Given the description of an element on the screen output the (x, y) to click on. 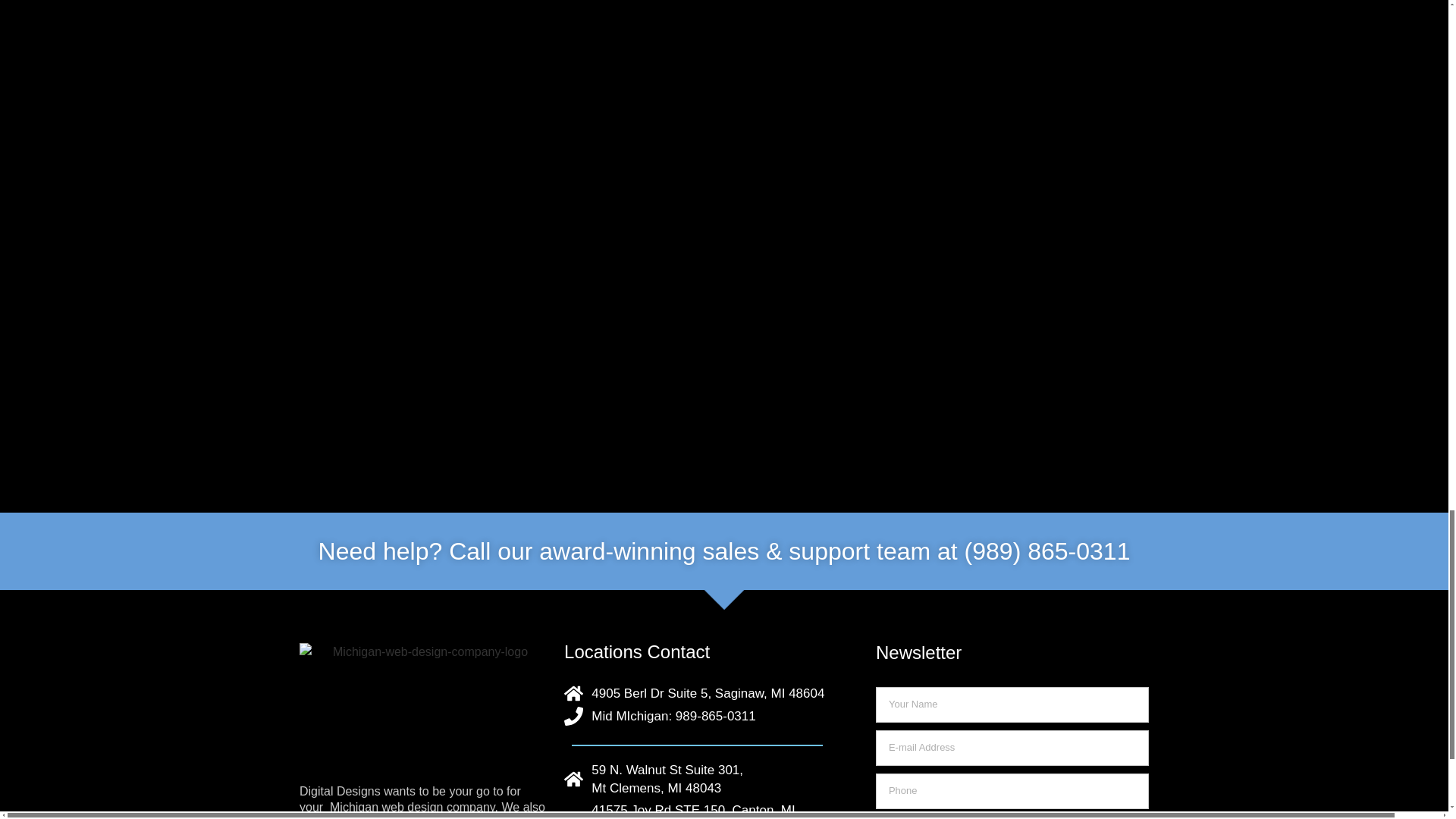
Mid MIchigan: 989-865-0311 (696, 715)
4905 Berl Dr Suite 5, Saginaw, MI 48604 (696, 692)
41575 Joy Rd STE 150, Canton, MI 48187 (696, 779)
